Given the description of an element on the screen output the (x, y) to click on. 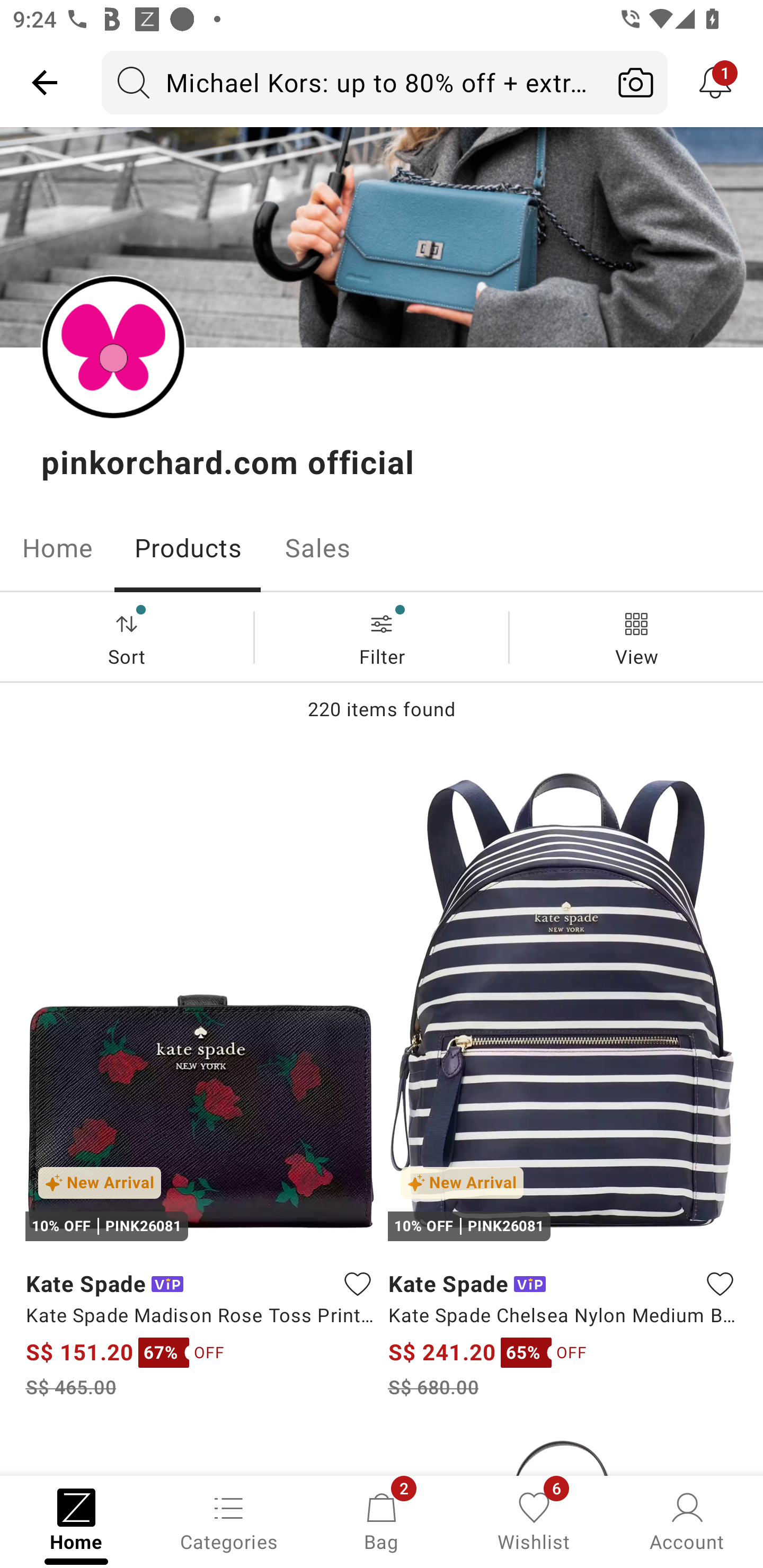
Navigate up (44, 82)
Michael Kors: up to 80% off + extra 40% off (352, 82)
Home (57, 547)
Sales (317, 547)
Categories (228, 1519)
Bag, 2 new notifications Bag (381, 1519)
Wishlist, 6 new notifications Wishlist (533, 1519)
Account (686, 1519)
